Given the description of an element on the screen output the (x, y) to click on. 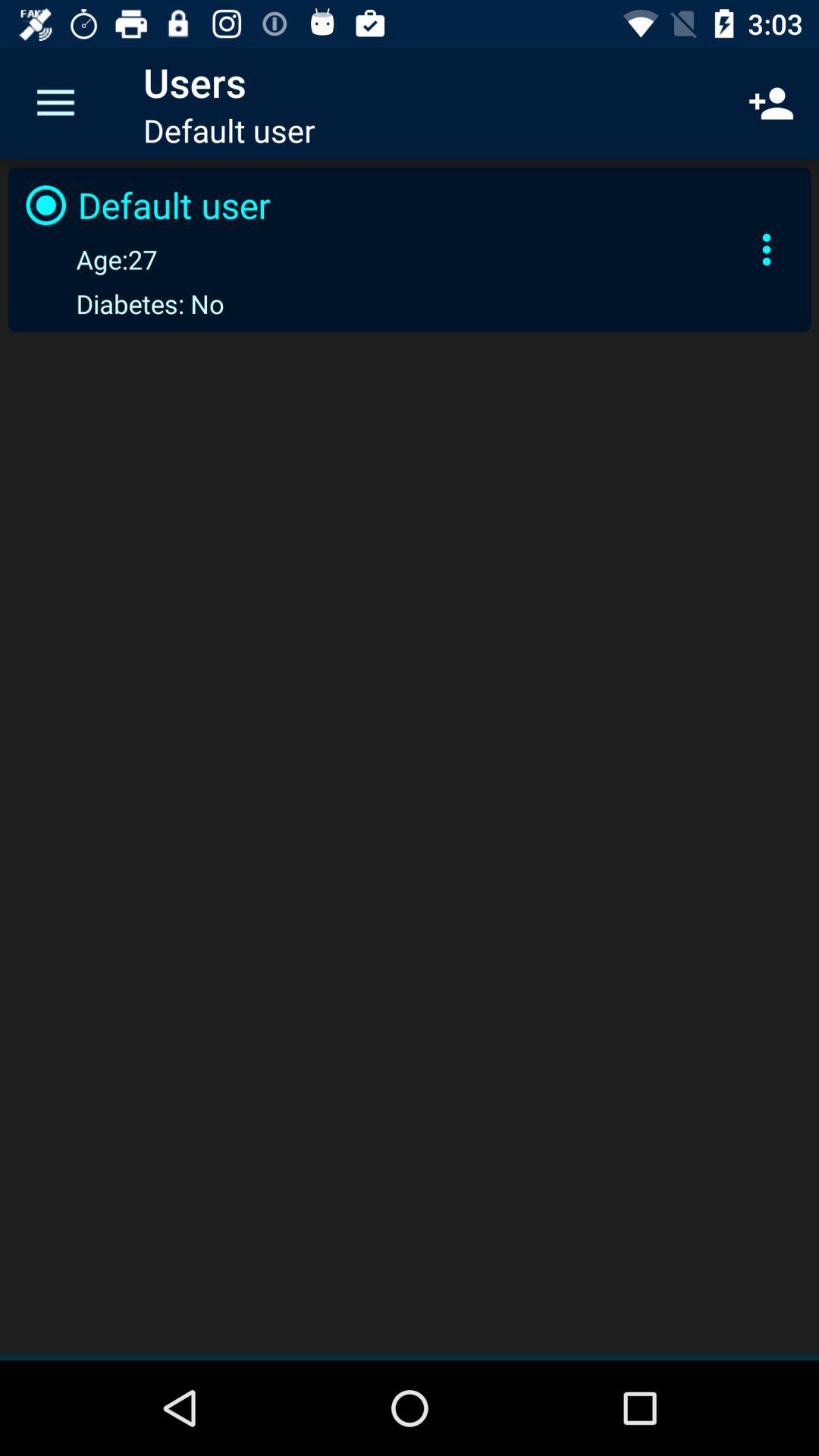
flip until the age:27 icon (87, 259)
